Given the description of an element on the screen output the (x, y) to click on. 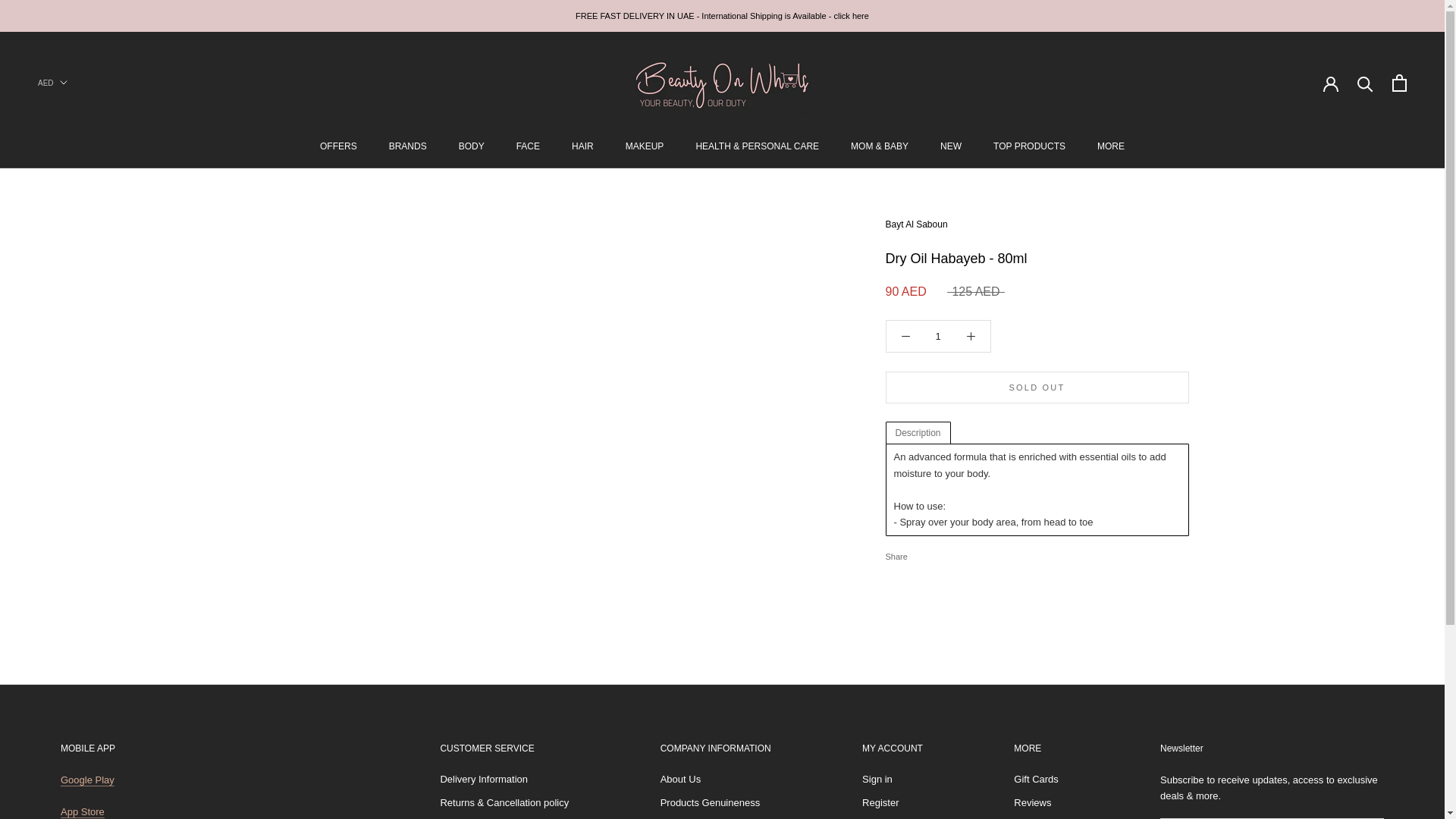
1 (938, 336)
Currency selector (51, 82)
